Given the description of an element on the screen output the (x, y) to click on. 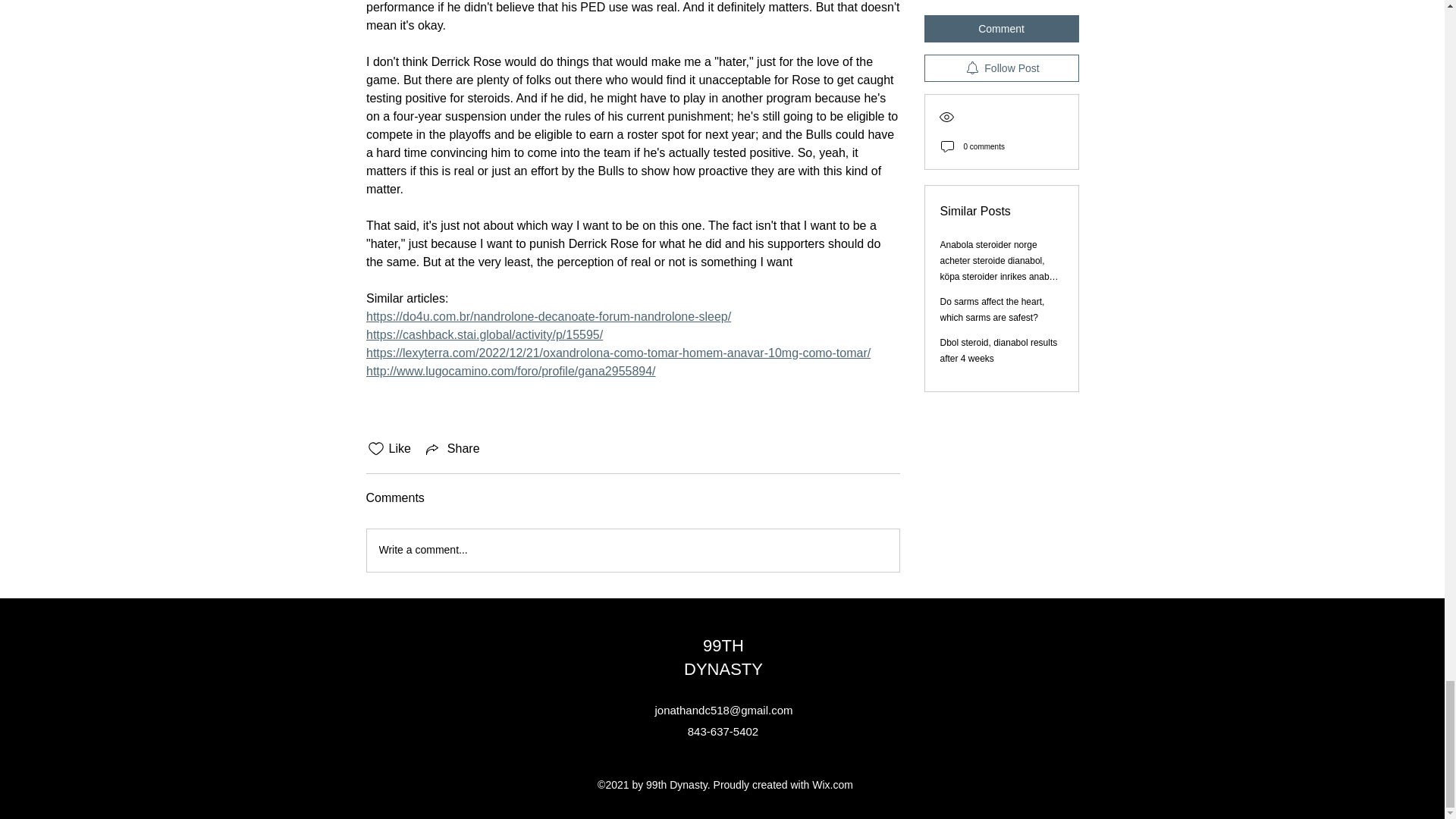
99TH DYNASTY (723, 657)
Share (451, 448)
Write a comment... (632, 550)
